Given the description of an element on the screen output the (x, y) to click on. 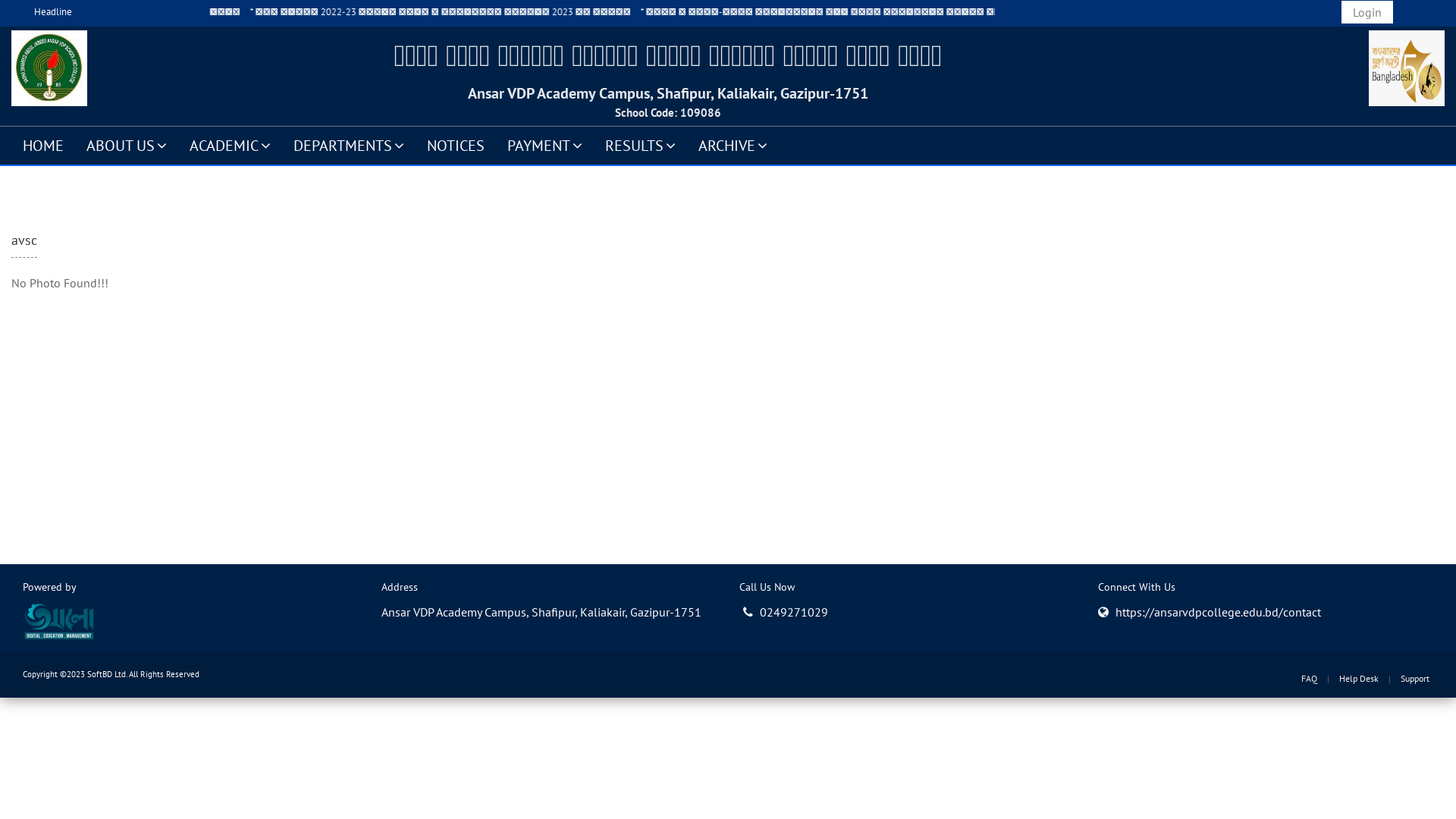
HOME Element type: text (43, 144)
0249271029 Element type: text (785, 610)
ABOUT US Element type: text (126, 144)
FAQ Element type: text (1309, 677)
Help Desk Element type: text (1358, 677)
SoftBD Ltd. Element type: text (106, 673)
https://ansarvdpcollege.edu.bd/contact Element type: text (1217, 610)
NOTICES Element type: text (455, 144)
Login Element type: text (1367, 11)
ARCHIVE Element type: text (732, 144)
ACADEMIC Element type: text (230, 144)
Support Element type: text (1414, 677)
PAYMENT Element type: text (544, 144)
DEPARTMENTS Element type: text (348, 144)
RESULTS Element type: text (640, 144)
